Given the description of an element on the screen output the (x, y) to click on. 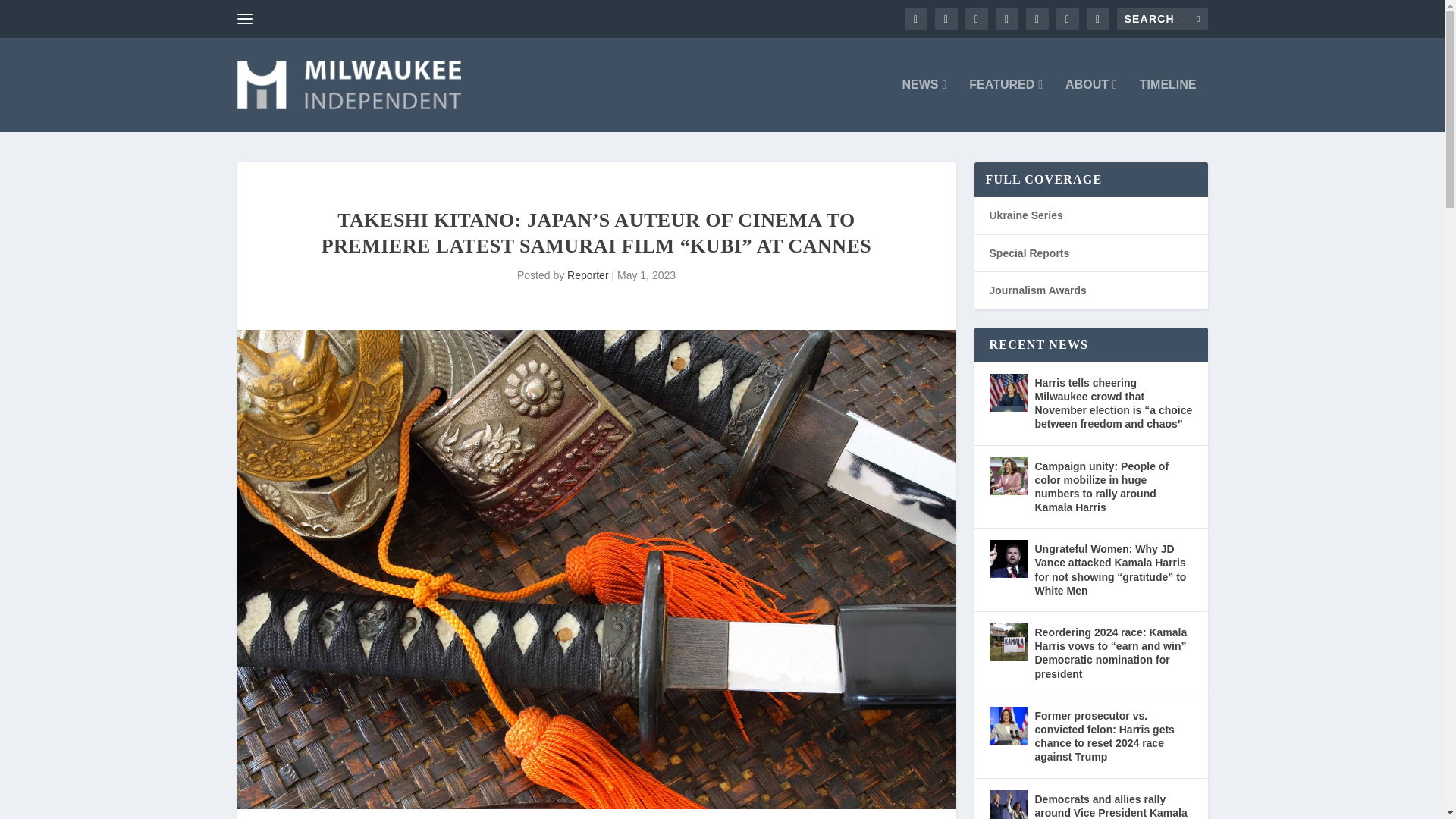
Posts by Reporter (587, 275)
FEATURED (1005, 104)
TIMELINE (1168, 104)
ABOUT (1090, 104)
Search for: (1161, 18)
